Given the description of an element on the screen output the (x, y) to click on. 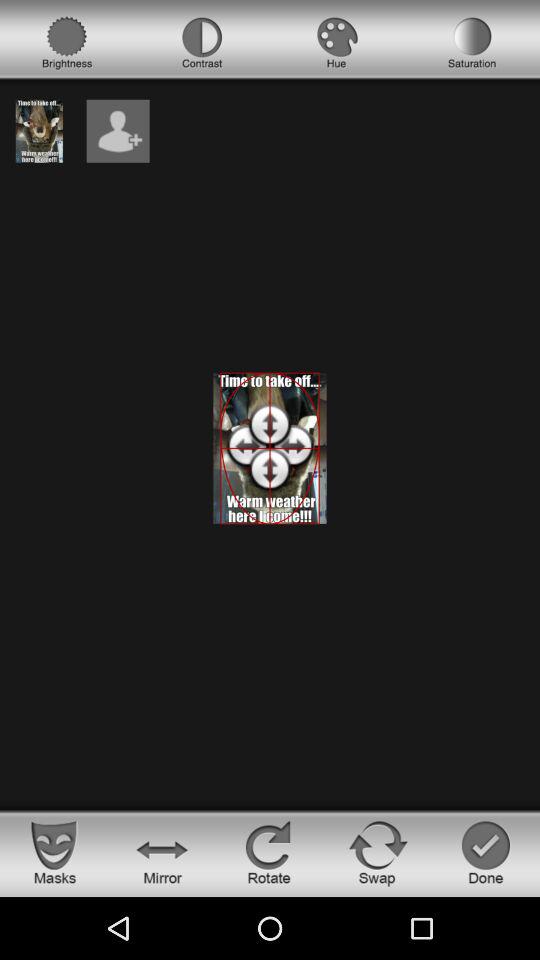
choose brightness option (67, 43)
